Given the description of an element on the screen output the (x, y) to click on. 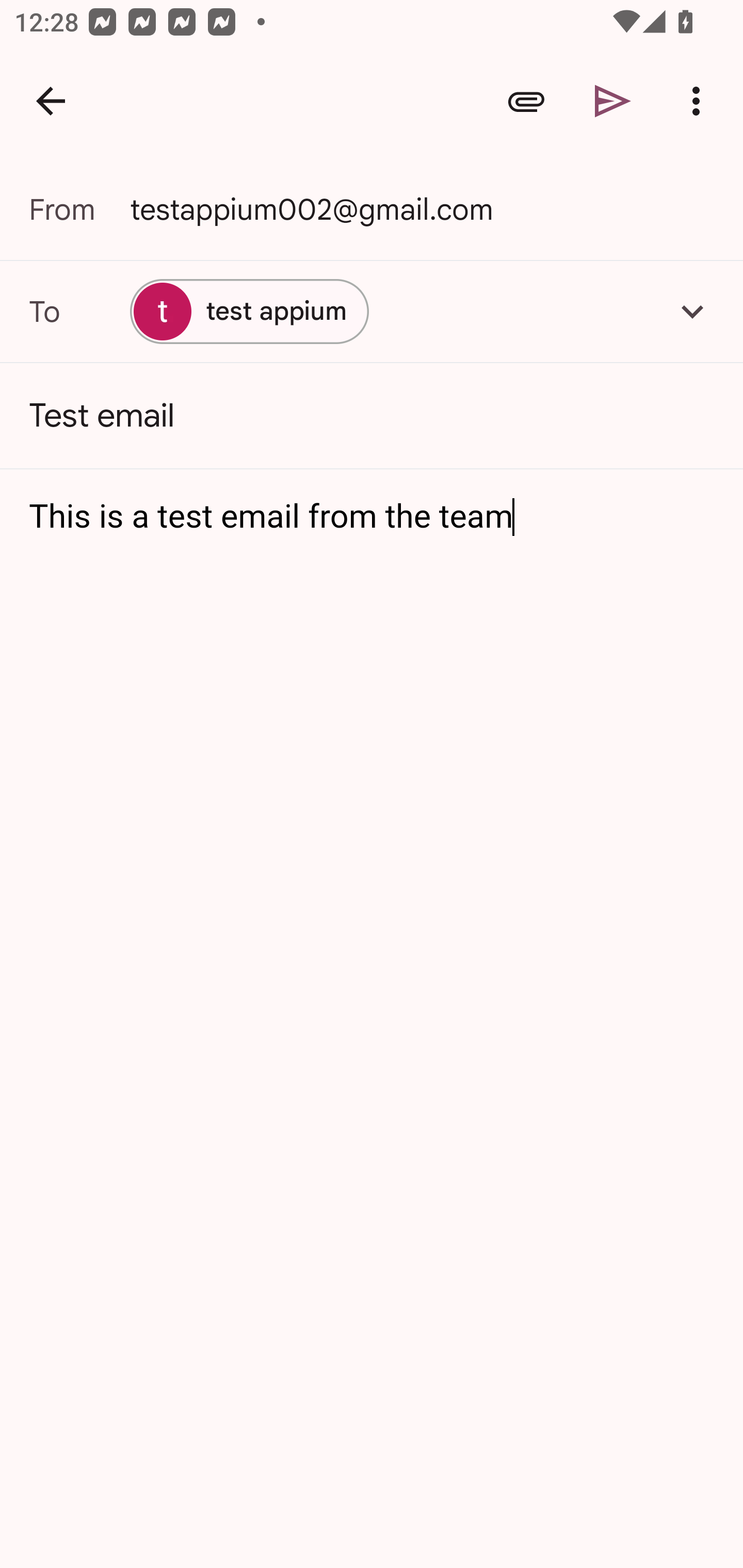
Navigate up (50, 101)
Attach file (525, 101)
Send (612, 101)
More options (699, 101)
From (79, 209)
Add Cc/Bcc (692, 311)
test appium test appium, testappium002@gmail.com (371, 311)
test appium test appium, testappium002@gmail.com (249, 311)
Test email (371, 415)
This is a test email from the team (372, 517)
